Given the description of an element on the screen output the (x, y) to click on. 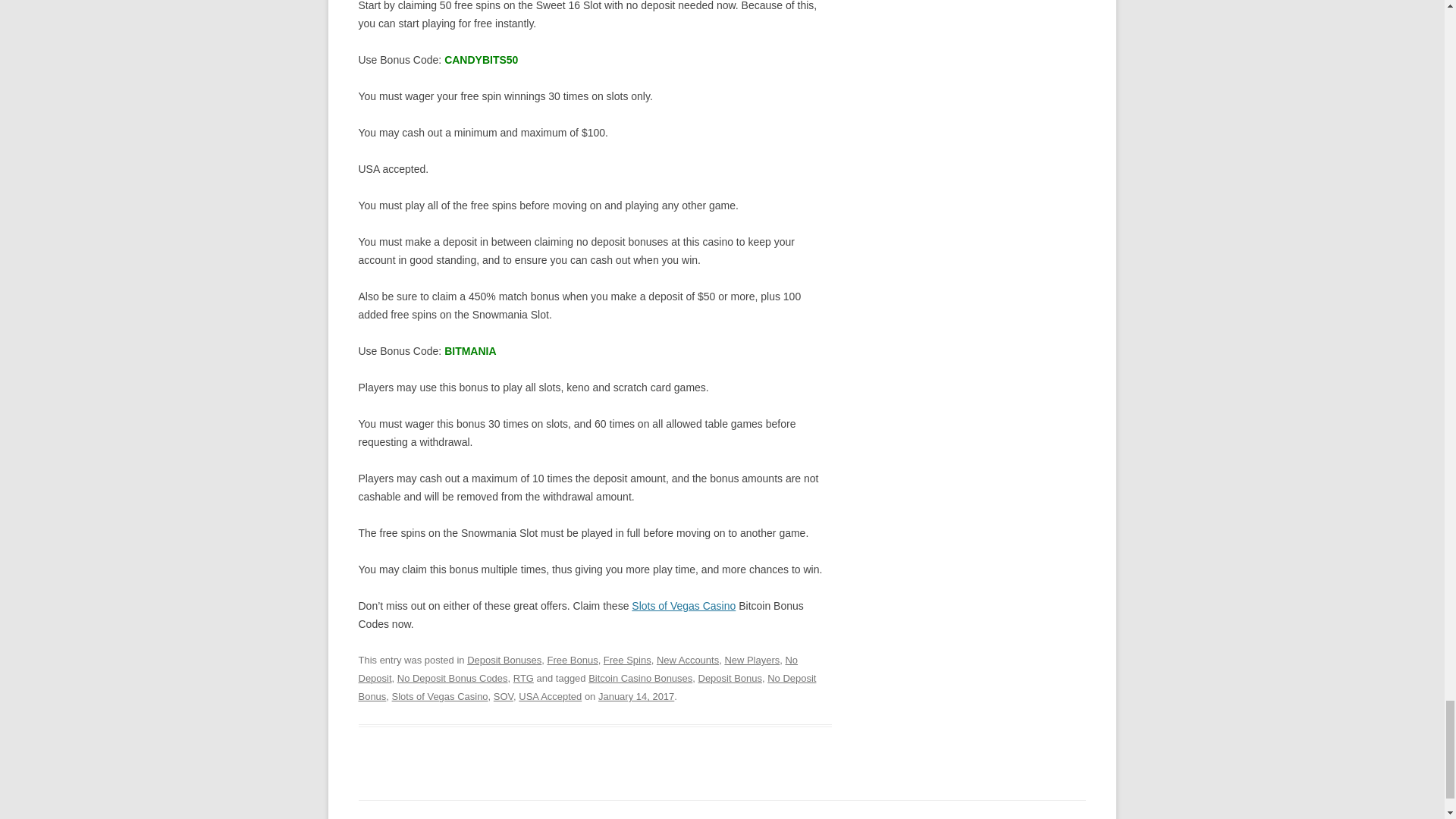
Slots of Vegas Casino (683, 605)
4:24 pm (636, 696)
